Given the description of an element on the screen output the (x, y) to click on. 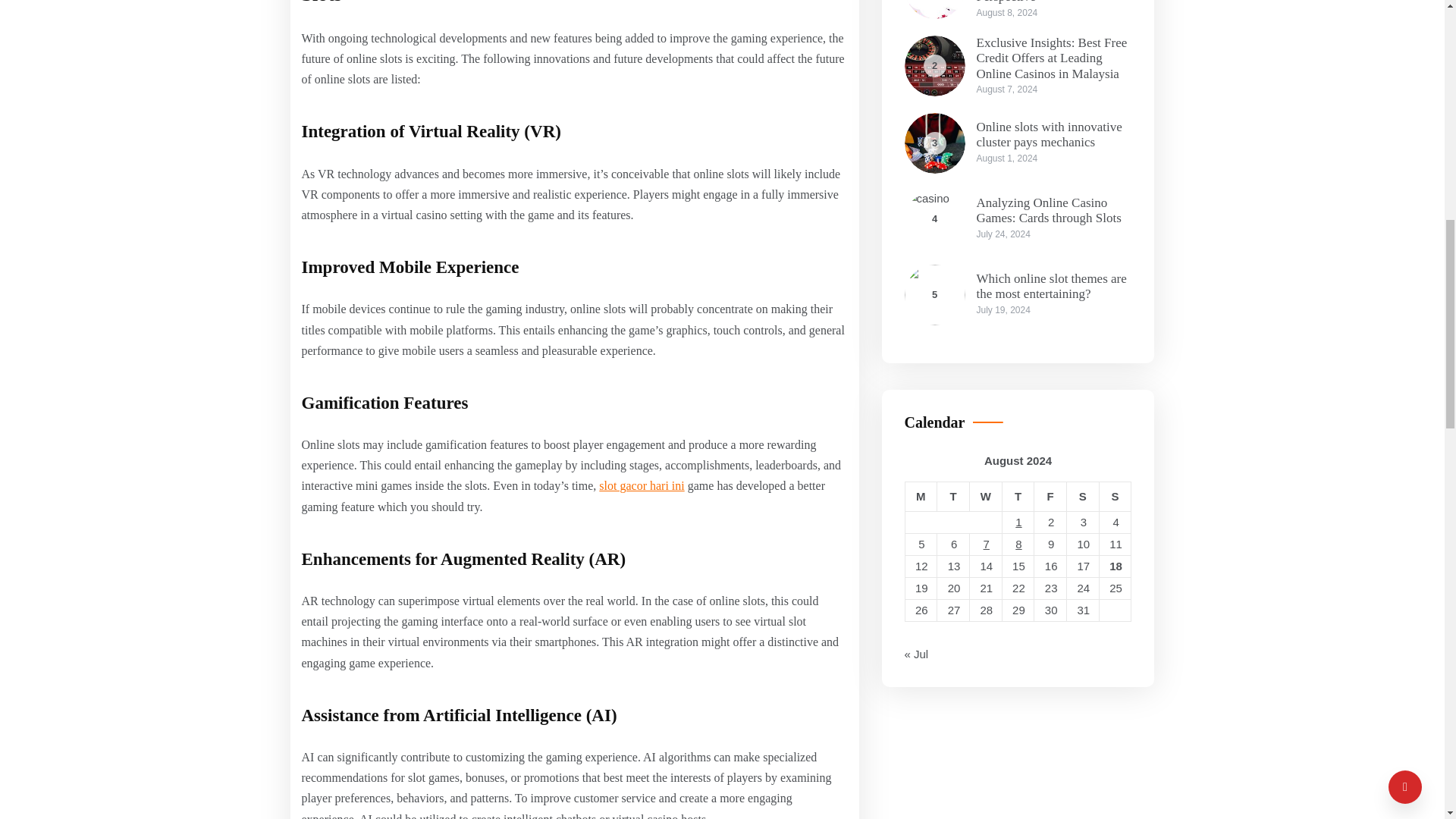
Sunday (1115, 496)
Friday (1050, 496)
Tuesday (953, 496)
Saturday (1083, 496)
Monday (920, 496)
Wednesday (985, 496)
Thursday (1017, 496)
slot gacor hari ini (641, 485)
